Given the description of an element on the screen output the (x, y) to click on. 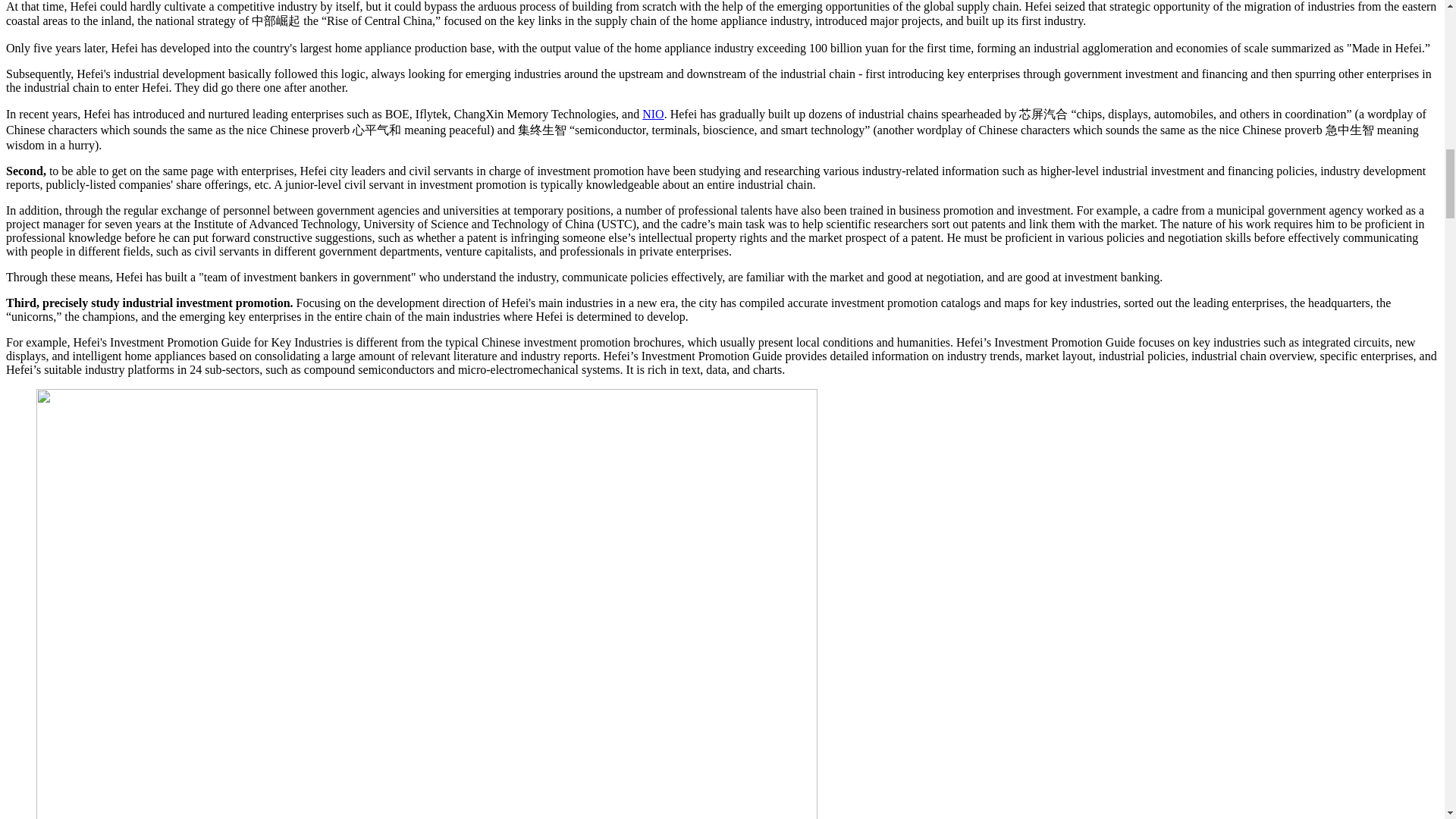
NIO (652, 113)
